Given the description of an element on the screen output the (x, y) to click on. 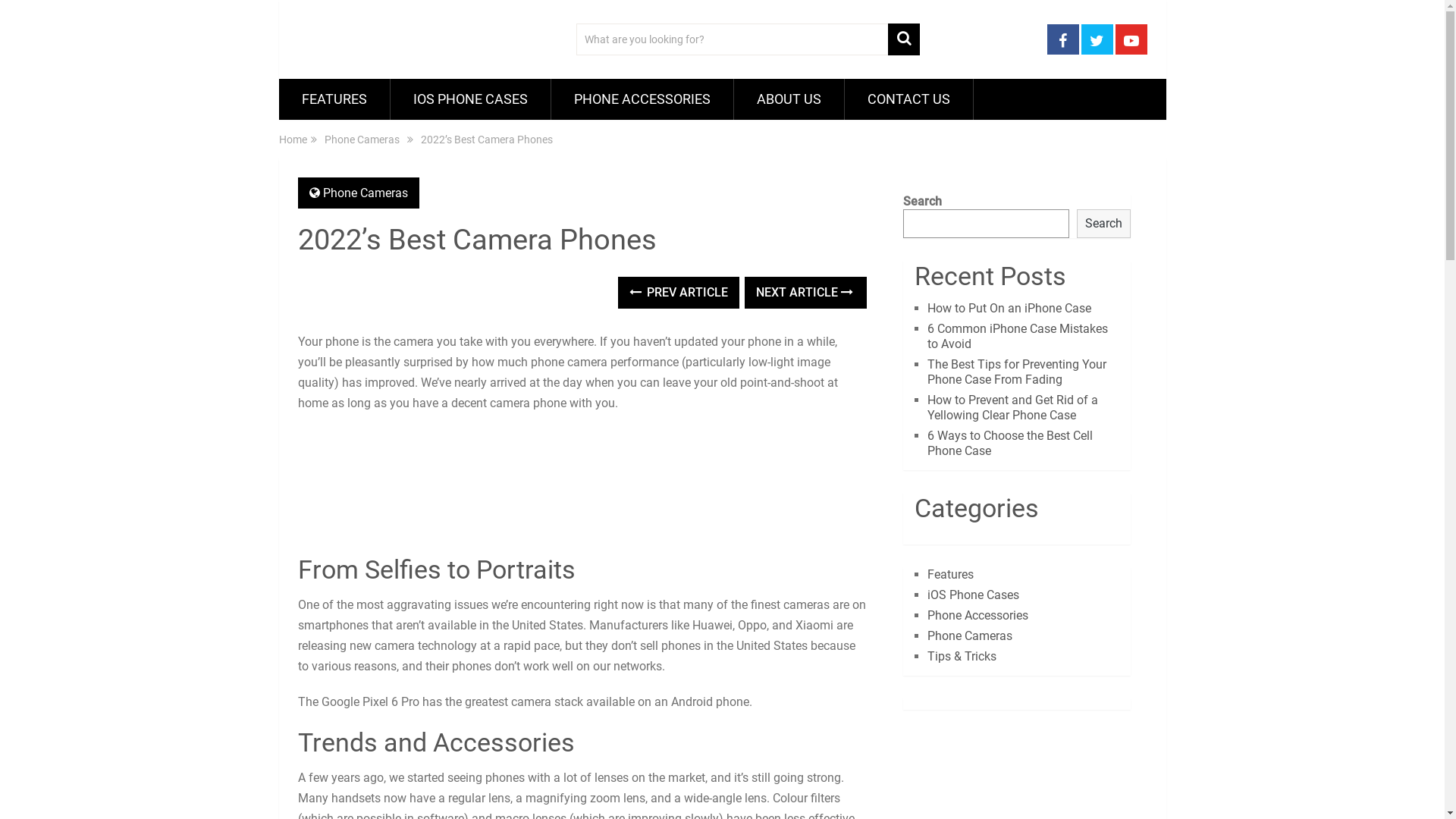
CONTACT US Element type: text (908, 98)
PHONE ACCESSORIES Element type: text (641, 98)
Home Element type: text (293, 139)
The Best Tips for Preventing Your Phone Case From Fading Element type: text (1016, 371)
Phone Cameras Element type: text (969, 635)
Phone Cameras Element type: text (361, 139)
PREV ARTICLE Element type: text (678, 292)
FEATURES Element type: text (334, 98)
How to Put On an iPhone Case Element type: text (1009, 308)
Search Element type: text (1103, 223)
Phone Accessories Element type: text (977, 615)
6 Ways to Choose the Best Cell Phone Case Element type: text (1009, 443)
Tips & Tricks Element type: text (961, 656)
Features Element type: text (950, 574)
How to Prevent and Get Rid of a Yellowing Clear Phone Case Element type: text (1012, 407)
IOS PHONE CASES Element type: text (469, 98)
6 Common iPhone Case Mistakes to Avoid Element type: text (1017, 336)
ABOUT US Element type: text (789, 98)
Phone Cameras Element type: text (365, 192)
iOS Phone Cases Element type: text (973, 594)
NEXT ARTICLE Element type: text (805, 292)
